Given the description of an element on the screen output the (x, y) to click on. 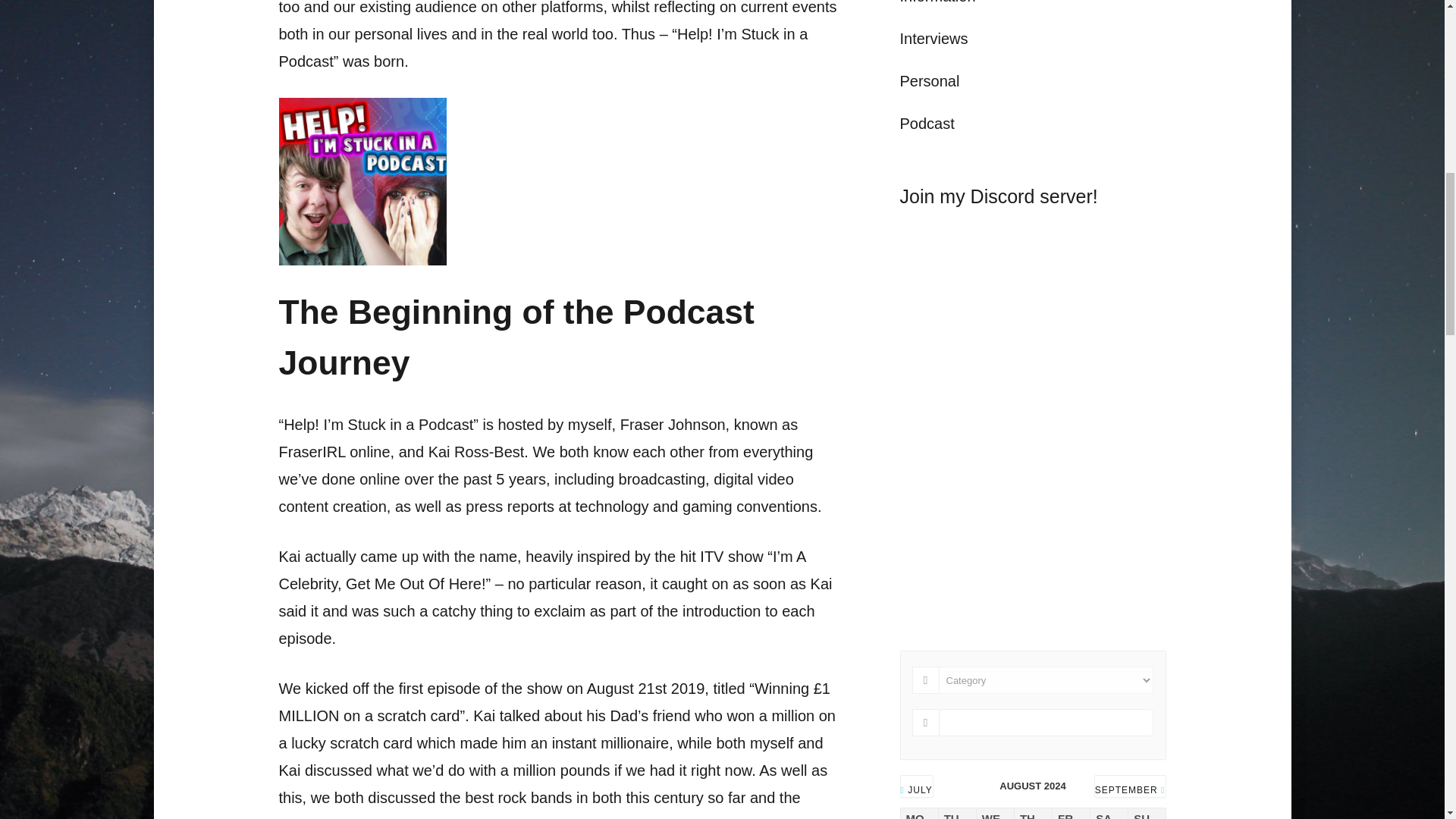
Information (937, 2)
